Given the description of an element on the screen output the (x, y) to click on. 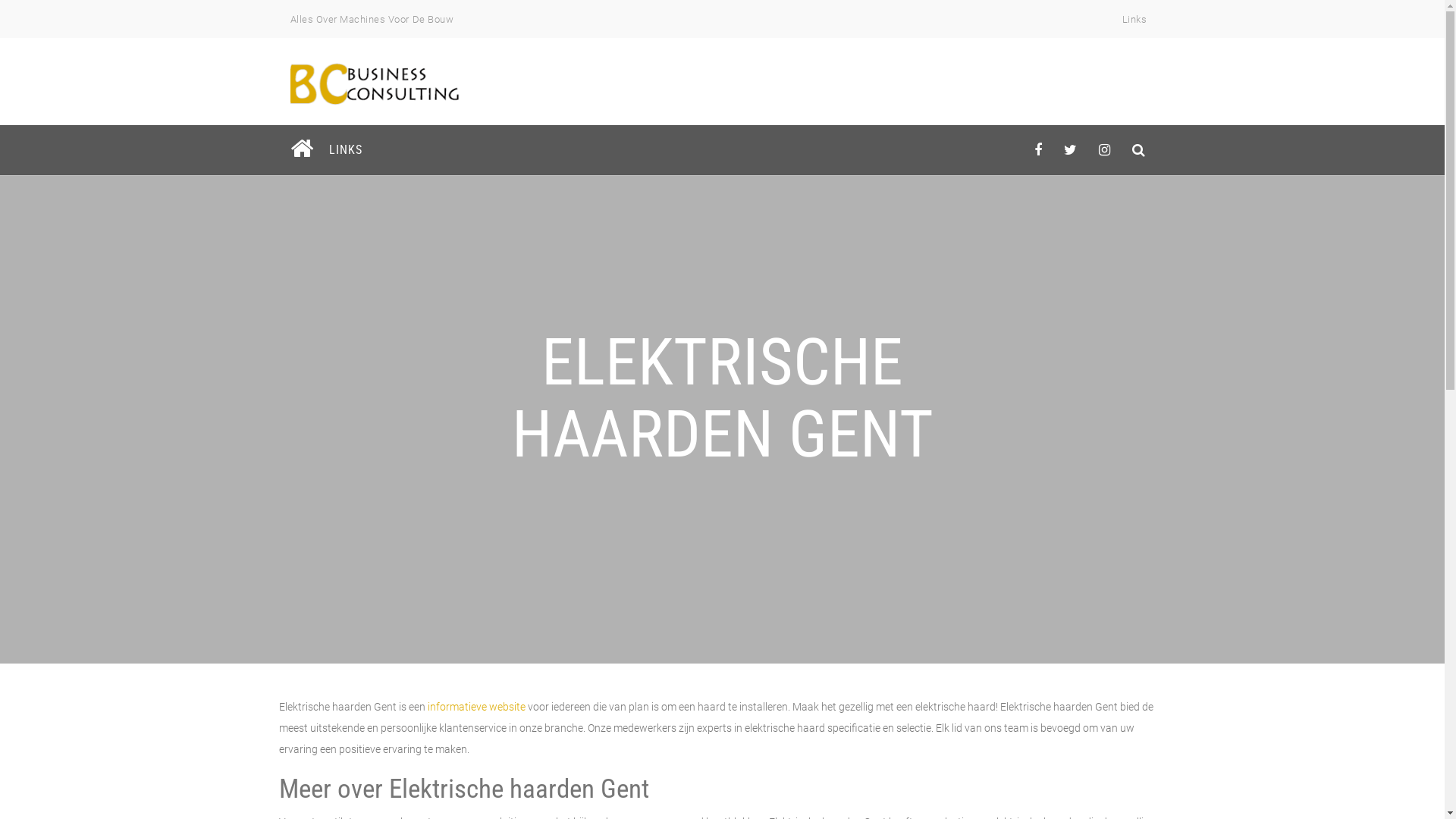
informatieve website Element type: text (476, 706)
behance Element type: hover (1138, 149)
Links Element type: text (1134, 19)
LINKS Element type: text (344, 149)
